Given the description of an element on the screen output the (x, y) to click on. 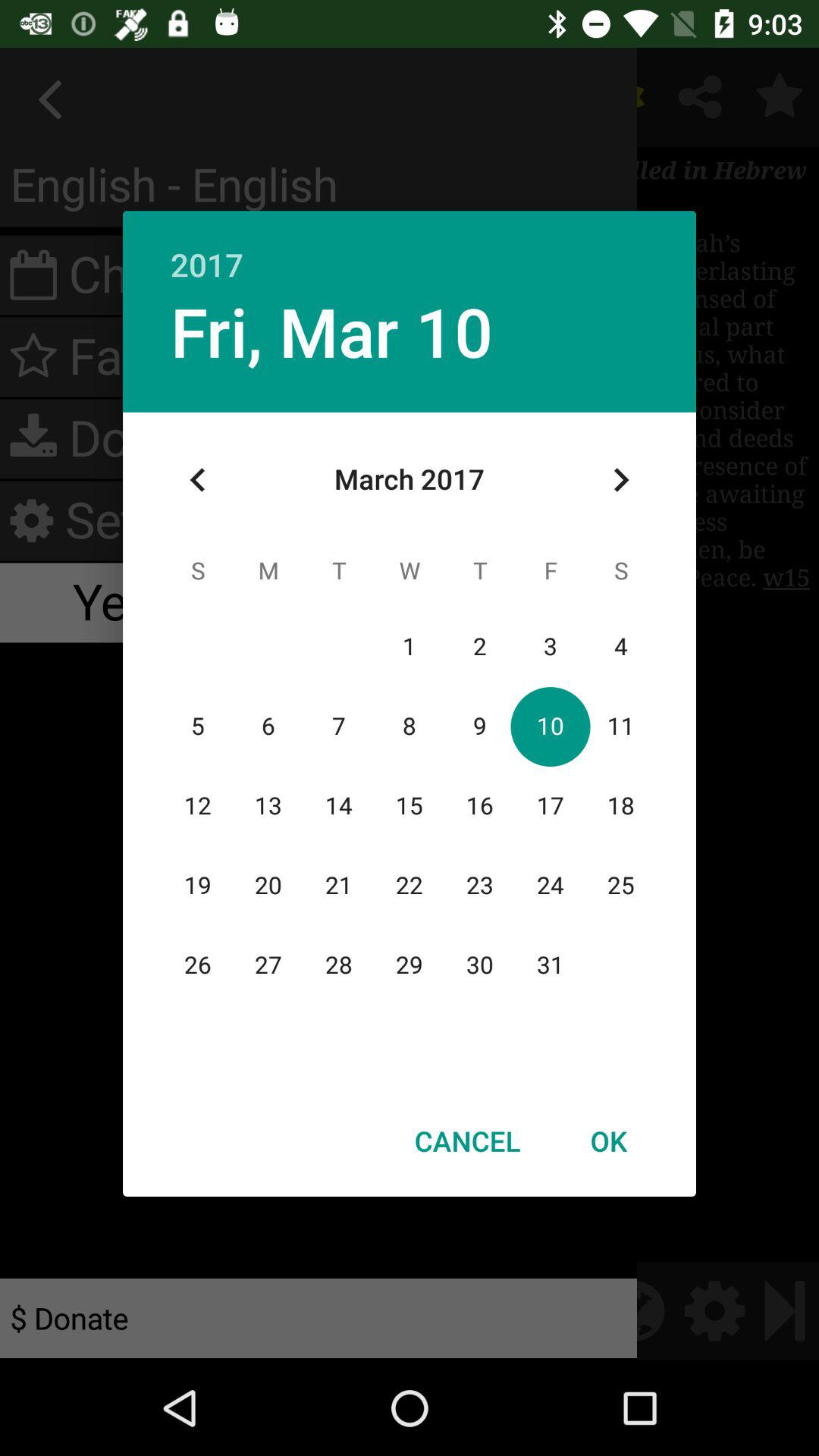
press app below the fri, mar 10 item (197, 479)
